Given the description of an element on the screen output the (x, y) to click on. 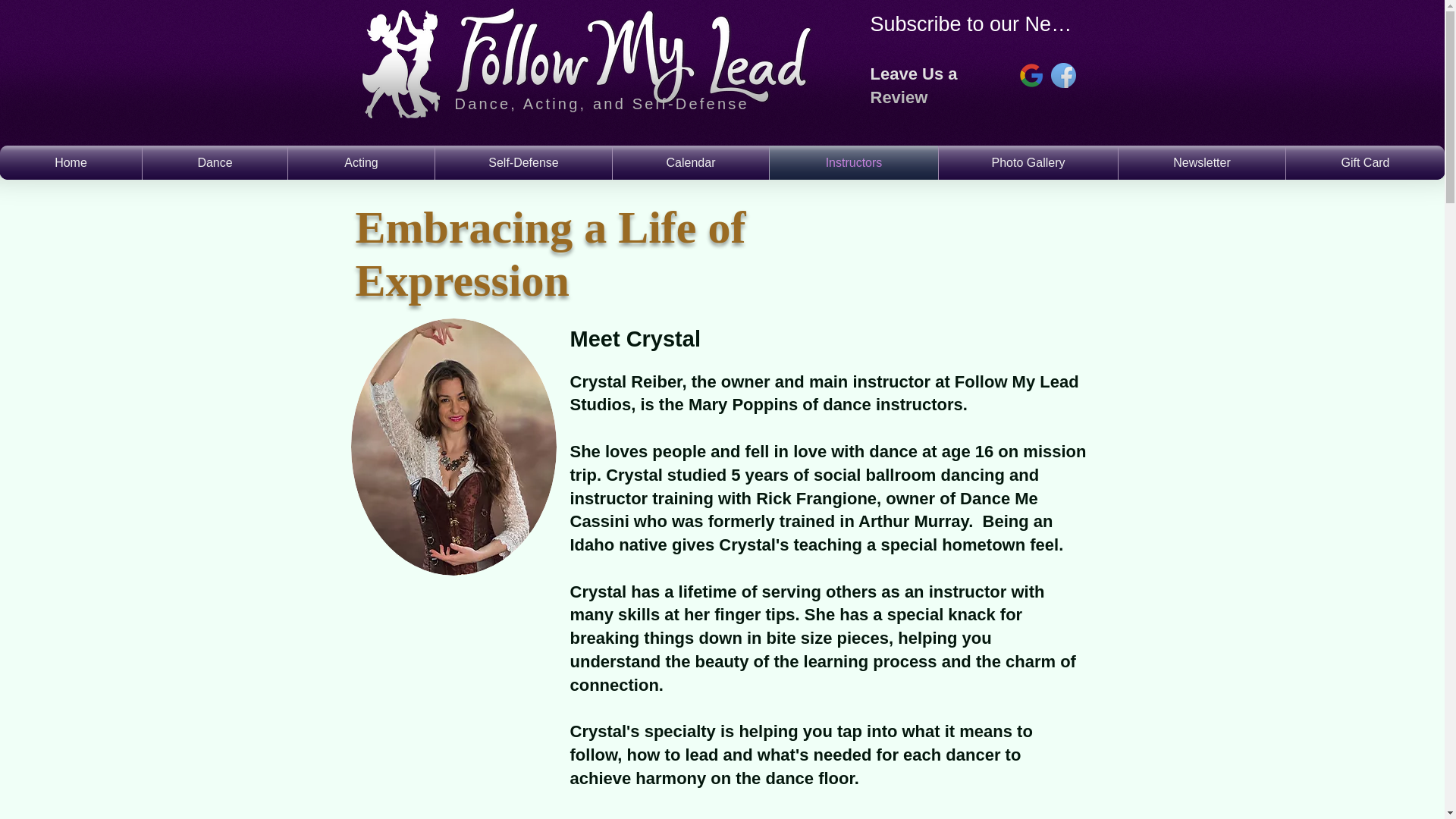
Self-Defense (523, 162)
702302.png (1063, 75)
White - Text - STRAIGHT.png (633, 55)
Photo Gallery (1028, 162)
Home (70, 162)
Newsletter (1201, 162)
Calendar (690, 162)
Subscribe to our Newsletter (972, 24)
Instructors (853, 162)
Acting (360, 162)
Dance (214, 162)
